Given the description of an element on the screen output the (x, y) to click on. 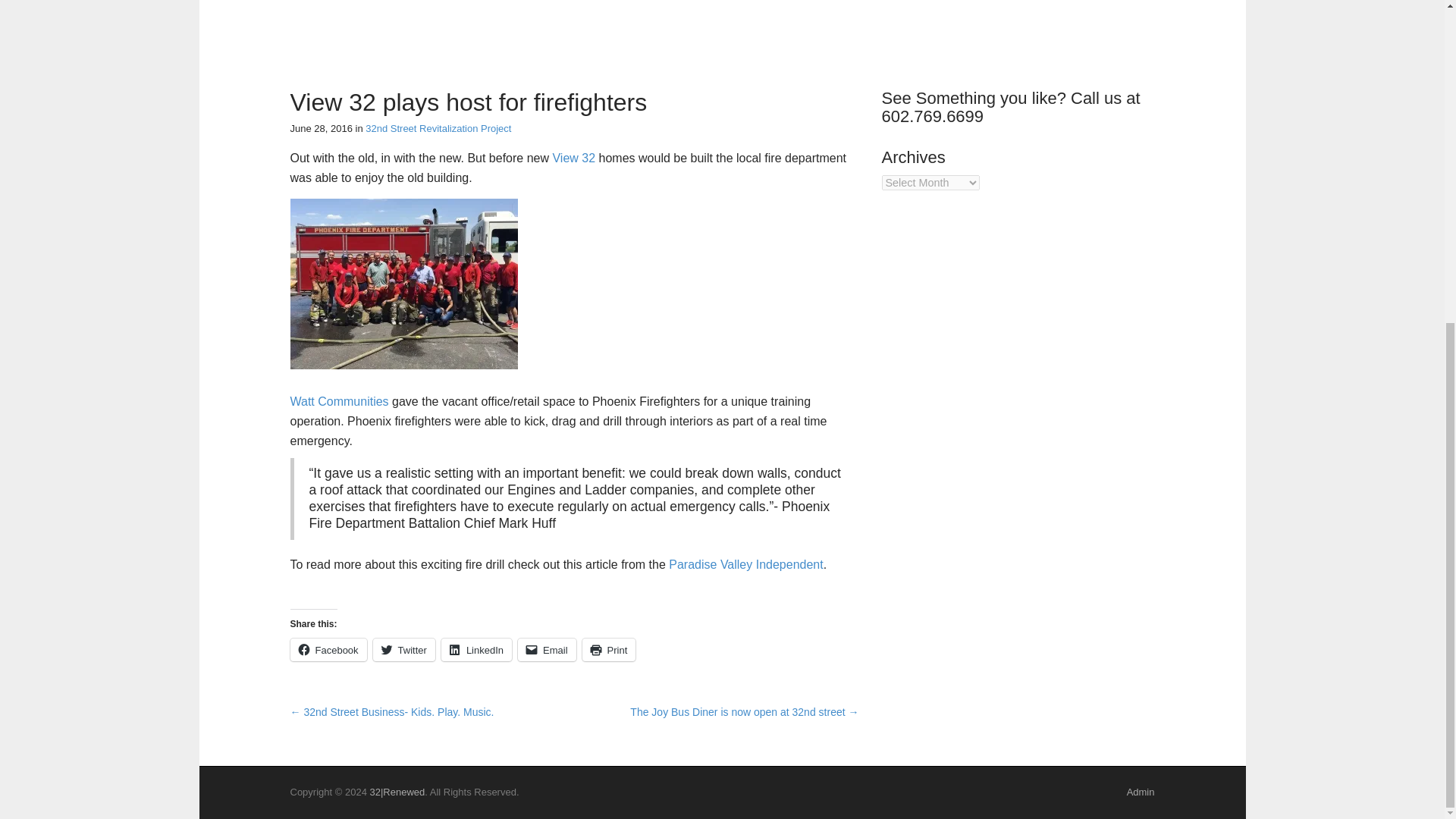
View 32 (573, 157)
Click to share on LinkedIn (476, 649)
Click to print (609, 649)
Twitter (403, 649)
Click to share on Twitter (403, 649)
LinkedIn (476, 649)
Click to share on Facebook (327, 649)
Paradise Valley Independent (745, 563)
Watt Communities (338, 400)
Facebook (327, 649)
Admin (1140, 791)
Email (547, 649)
Print (609, 649)
June 28, 2016 (320, 128)
Click to email a link to a friend (547, 649)
